Given the description of an element on the screen output the (x, y) to click on. 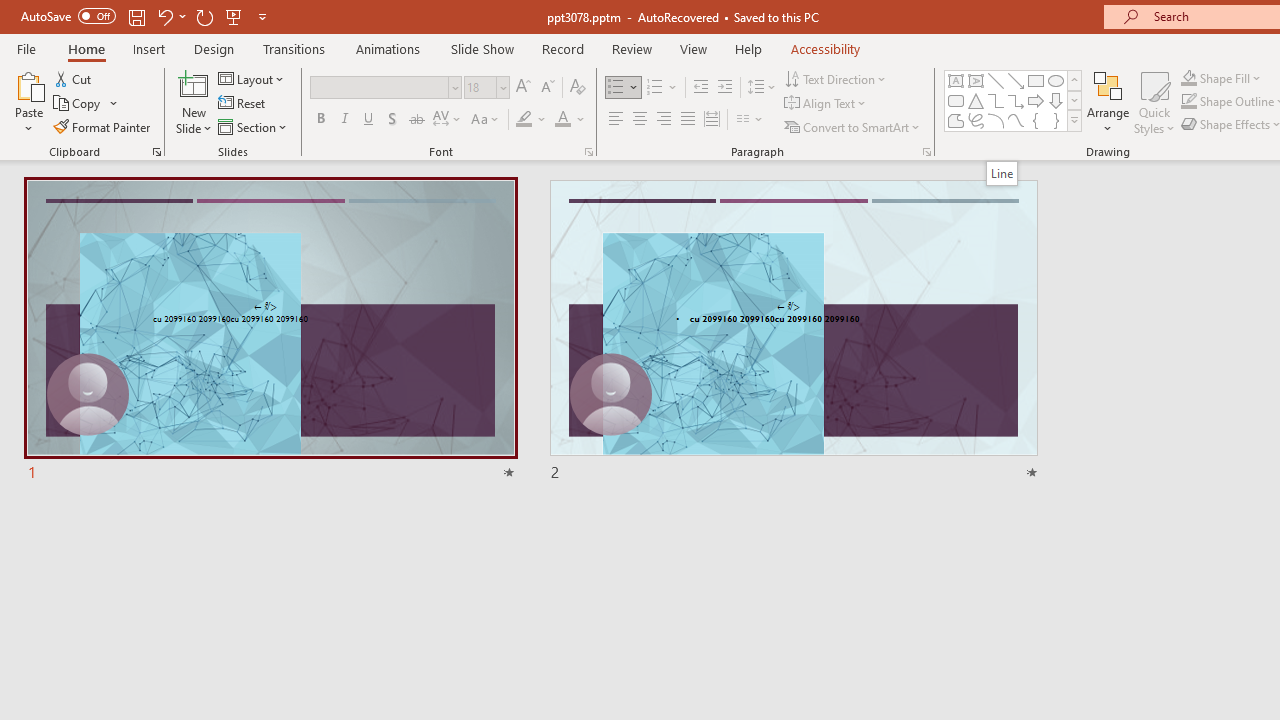
Shape Outline Green, Accent 1 (1188, 101)
Justify (687, 119)
Underline (369, 119)
Freeform: Scribble (975, 120)
Text Highlight Color (531, 119)
Isosceles Triangle (975, 100)
Quick Styles (1154, 102)
Curve (1016, 120)
Distributed (712, 119)
Italic (344, 119)
Text Box (955, 80)
Arrow: Right (1035, 100)
